Given the description of an element on the screen output the (x, y) to click on. 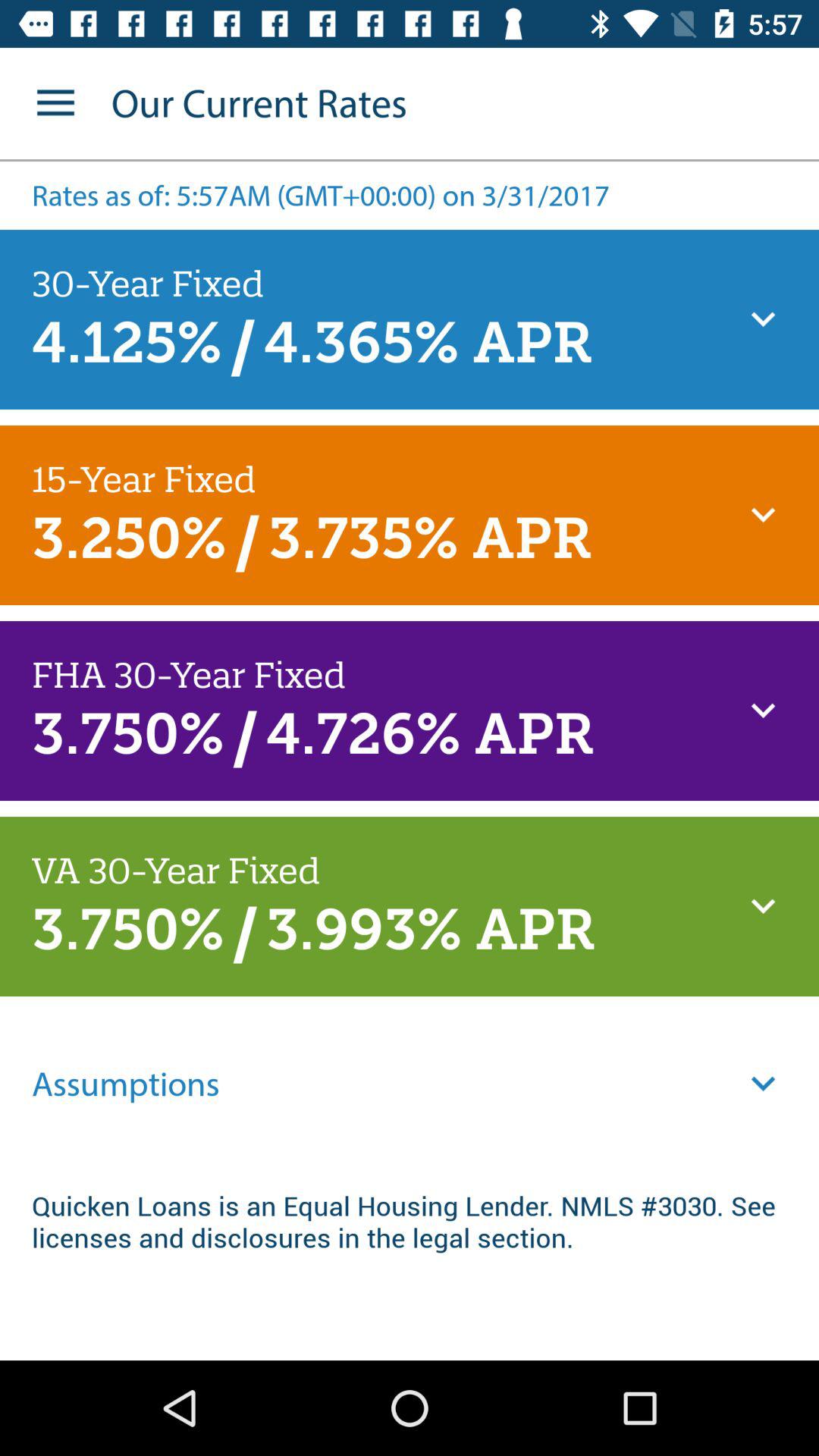
turn on the item next to the our current rates icon (55, 103)
